Given the description of an element on the screen output the (x, y) to click on. 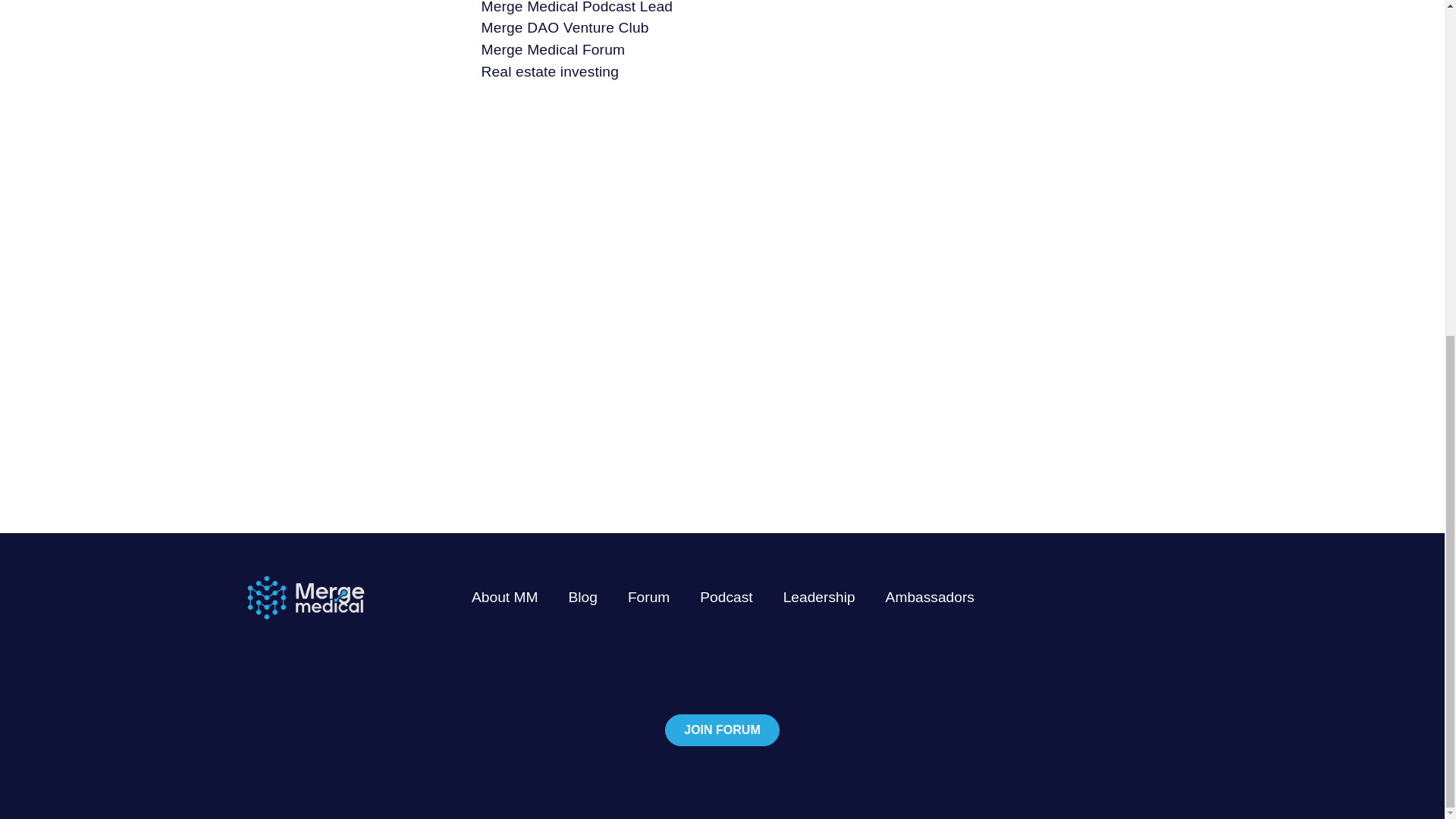
Ambassadors (929, 596)
About MM (504, 596)
Podcast (726, 596)
Blog (582, 596)
Forum (648, 596)
JOIN FORUM (721, 730)
Leadership (819, 596)
